Given the description of an element on the screen output the (x, y) to click on. 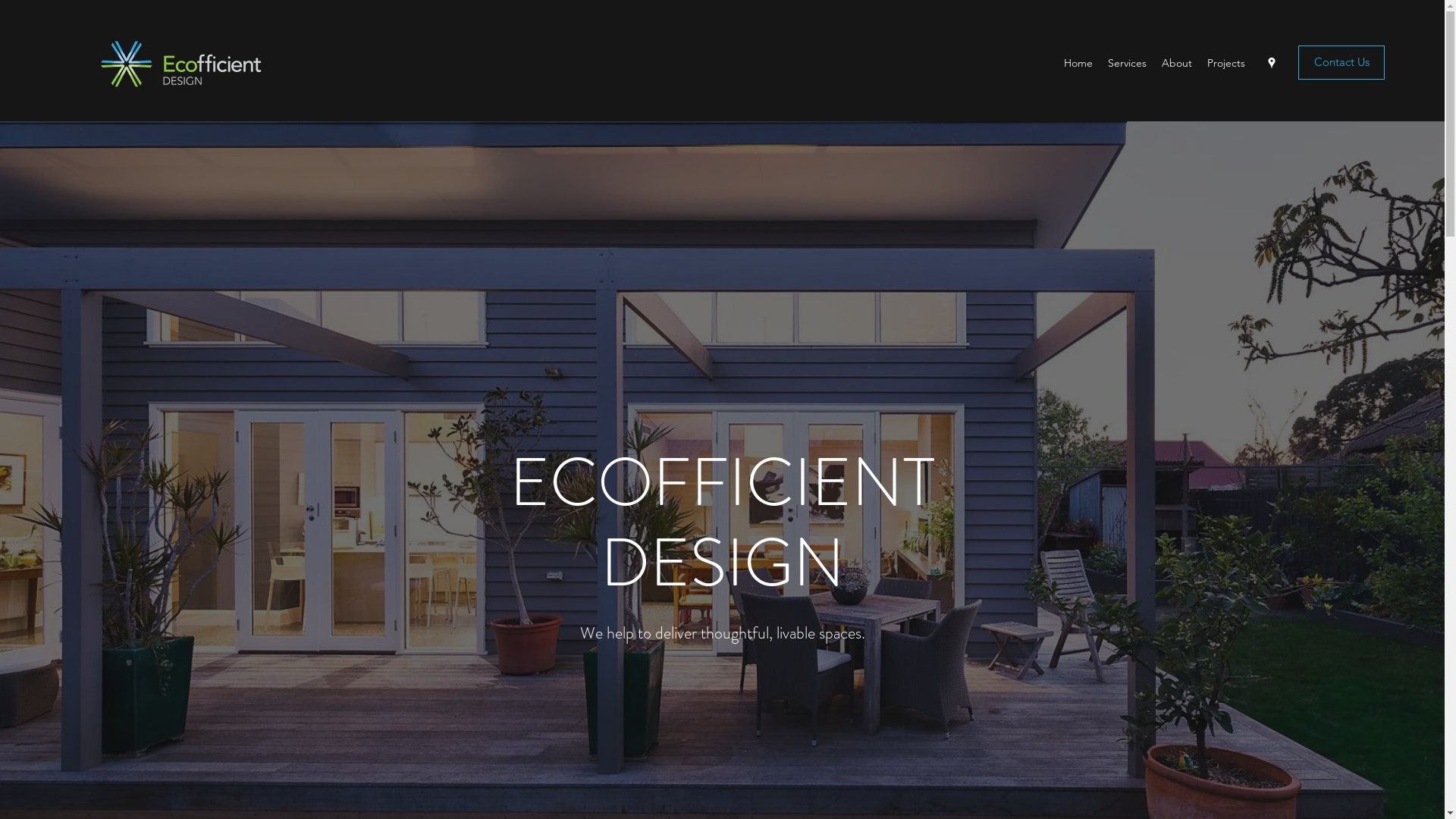
About Element type: text (1176, 62)
Contact Us Element type: text (1341, 62)
Services Element type: text (1127, 62)
Home Element type: text (1078, 62)
Projects Element type: text (1225, 62)
